Given the description of an element on the screen output the (x, y) to click on. 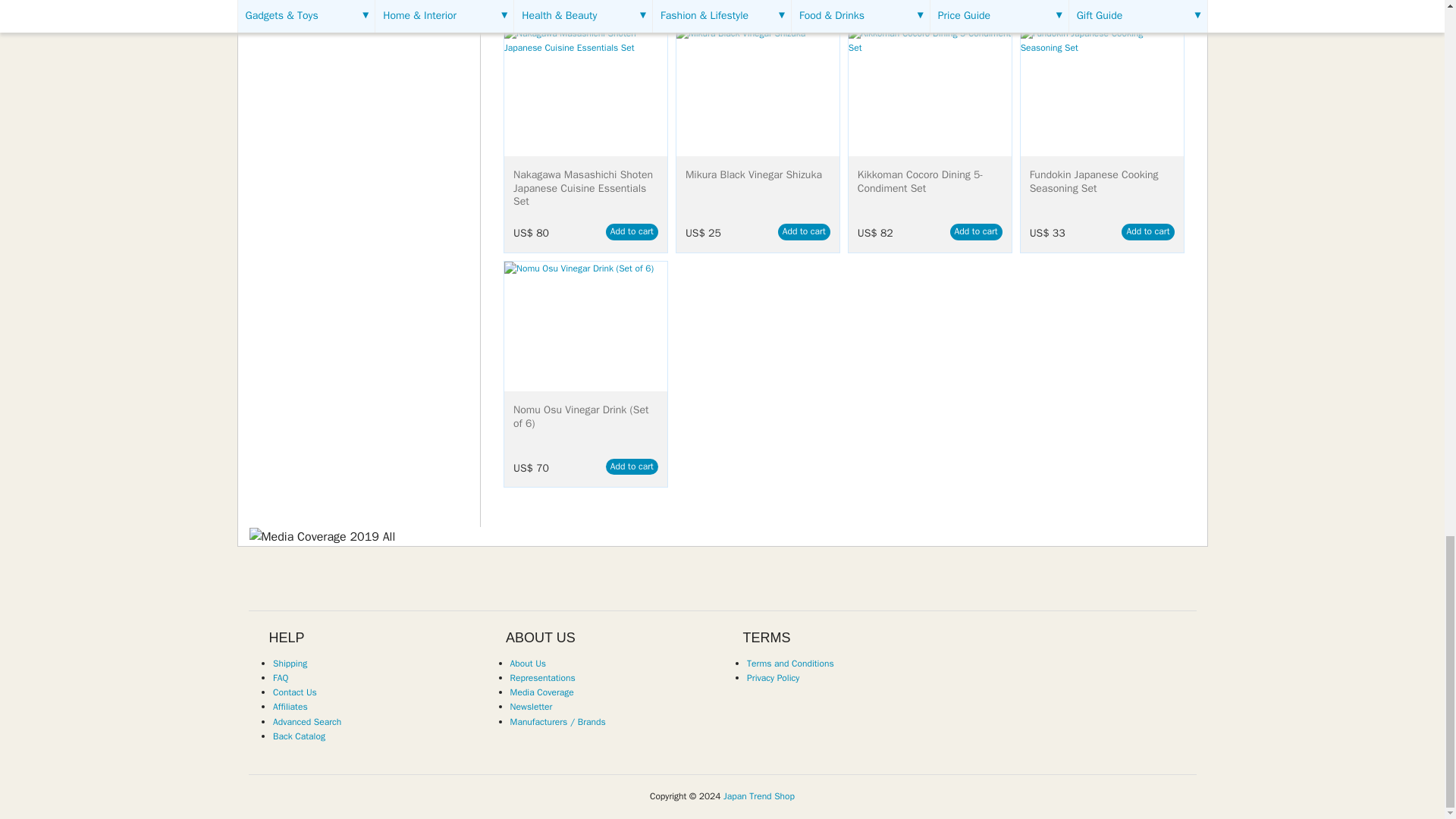
 Nakagawa Masashichi Shoten Japanese Cuisine Essentials Set  (584, 91)
 Mikura Black Vinegar Shizuka  (758, 91)
 Fundokin Japanese Cooking Seasoning Set  (1101, 91)
 Kikkoman Cocoro Dining 5-Condiment Set  (929, 91)
